Given the description of an element on the screen output the (x, y) to click on. 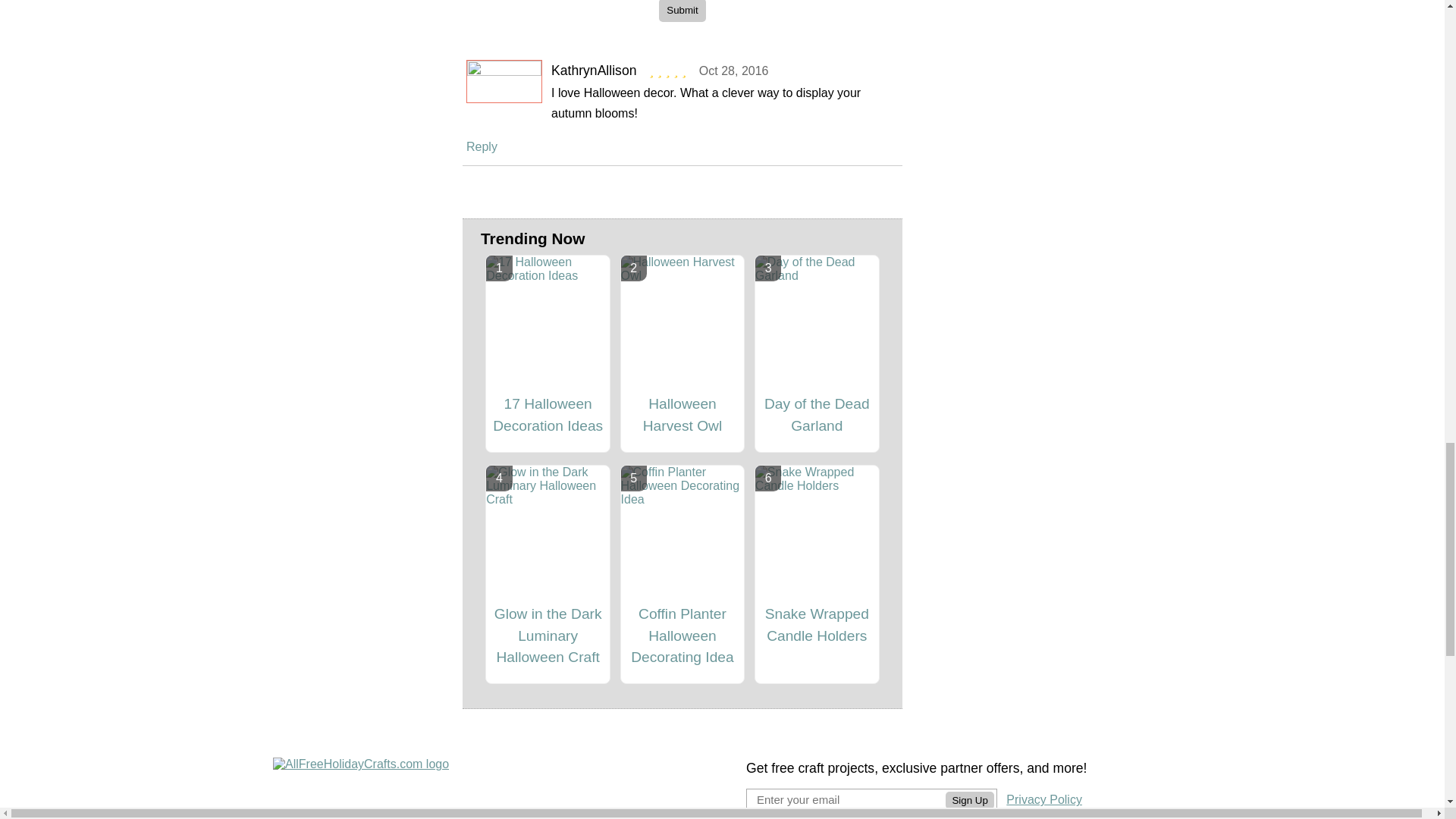
Submit (681, 11)
